Given the description of an element on the screen output the (x, y) to click on. 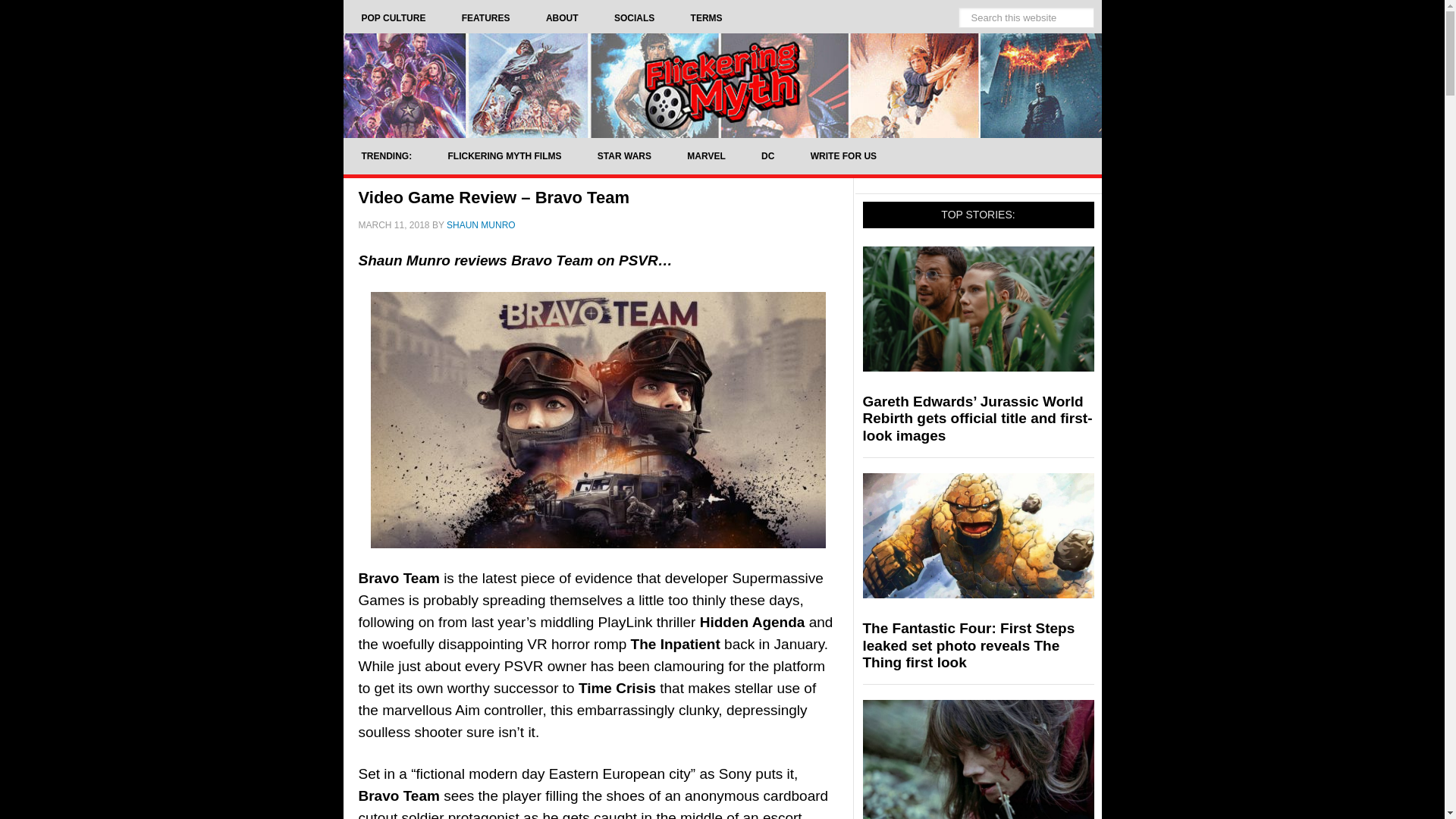
ABOUT (561, 18)
DC (767, 156)
POP CULTURE (393, 18)
TRENDING: (385, 156)
Features (486, 18)
SOCIALS (633, 18)
SHAUN MUNRO (480, 225)
About Flickering Myth (561, 18)
